Given the description of an element on the screen output the (x, y) to click on. 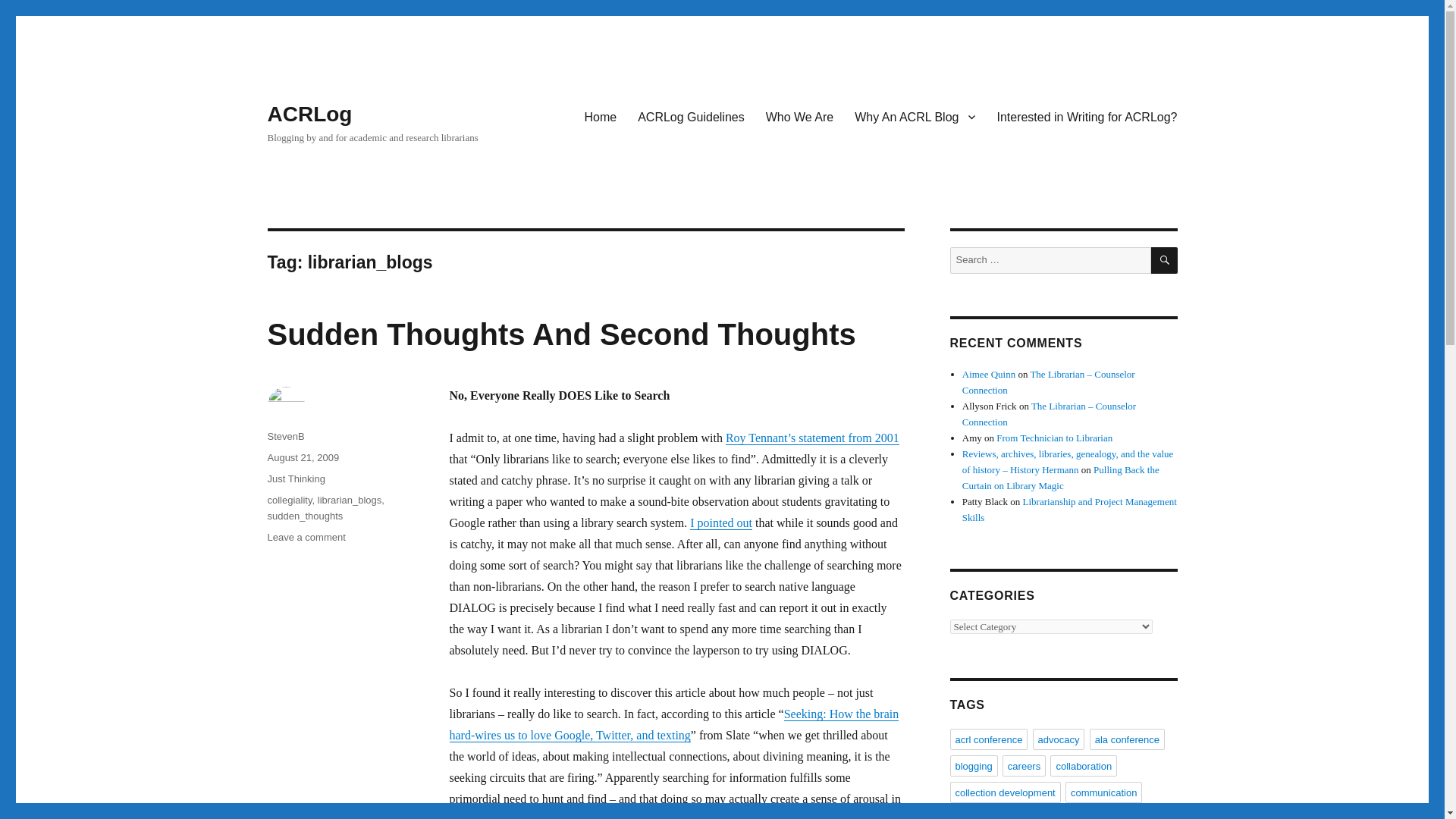
ACRLog Guidelines (691, 116)
Just Thinking (295, 478)
Who We Are (799, 116)
SEARCH (1164, 260)
From Technician to Librarian (1053, 437)
StevenB (285, 436)
collegiality (288, 500)
advocacy (1058, 739)
I pointed out (305, 536)
ACRLog (721, 522)
acrl conference (309, 114)
Interested in Writing for ACRLog? (988, 739)
August 21, 2009 (1086, 116)
ala conference (302, 457)
